Given the description of an element on the screen output the (x, y) to click on. 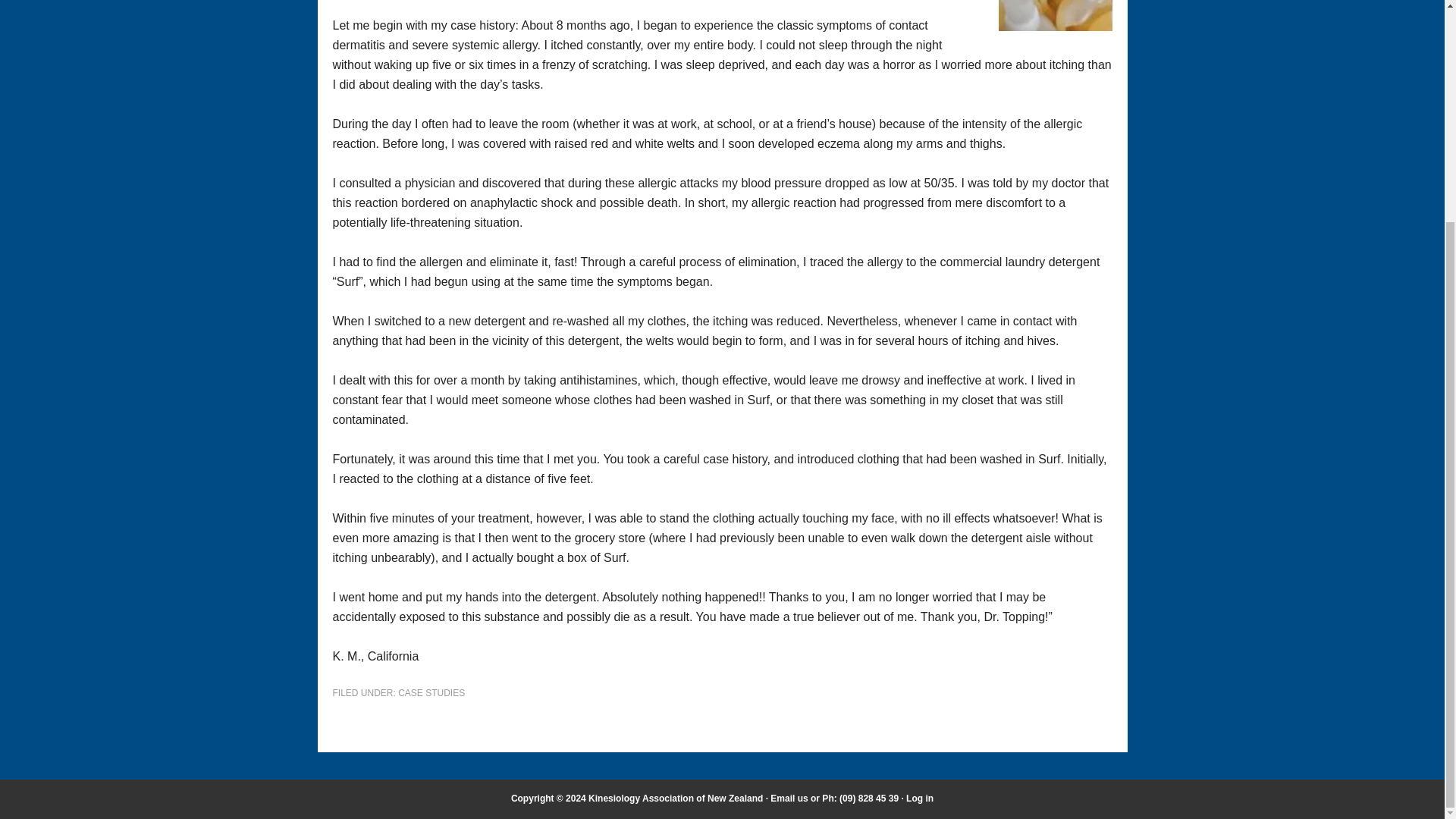
CASE STUDIES (430, 692)
Email us (789, 798)
Log in (919, 798)
